Given the description of an element on the screen output the (x, y) to click on. 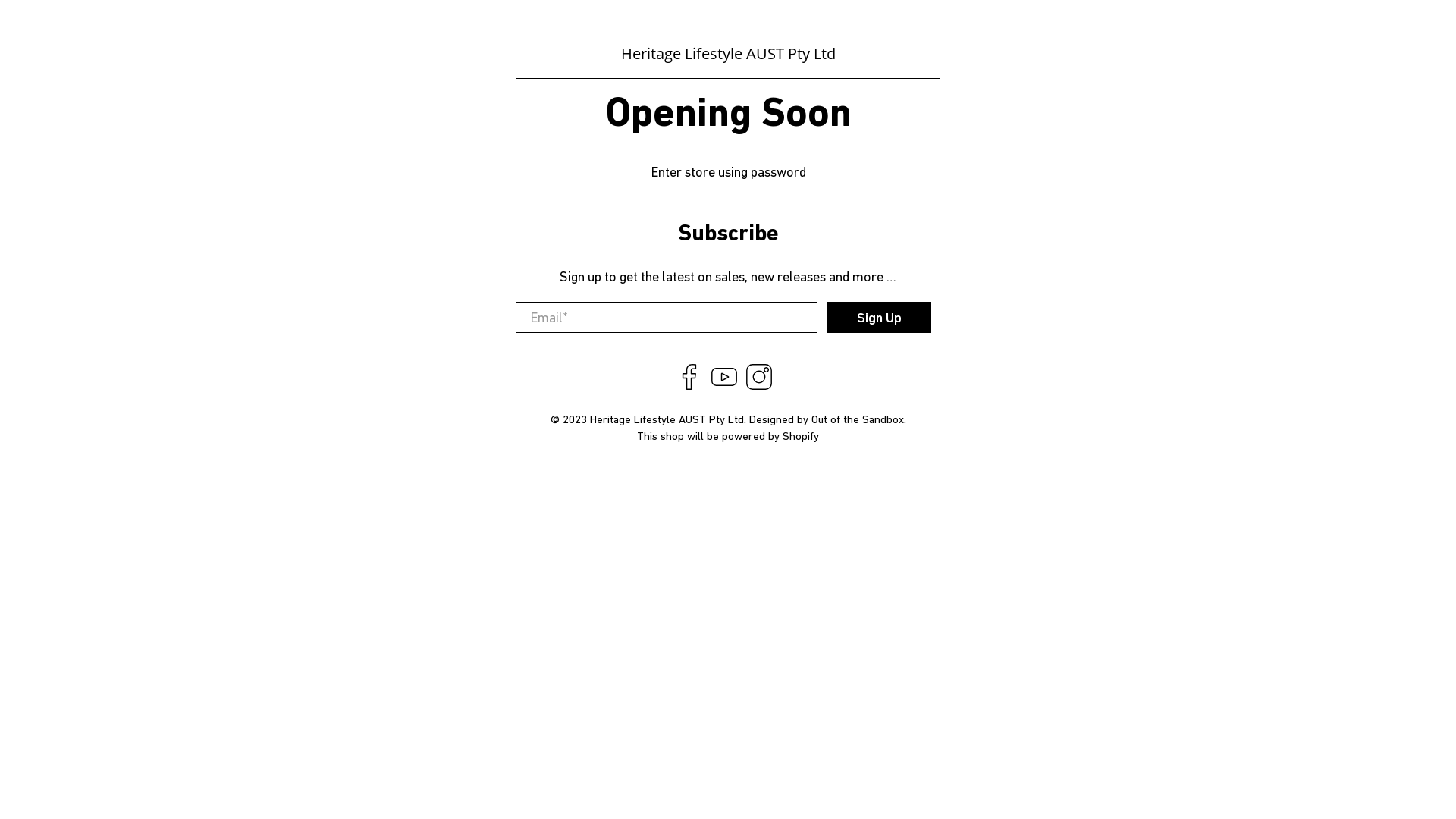
Shopify Element type: text (800, 435)
Enter Element type: text (727, 435)
Sign Up Element type: text (878, 316)
Heritage Lifestyle AUST Pty Ltd on Instagram Element type: hover (758, 385)
Heritage Lifestyle AUST Pty Ltd on YouTube Element type: hover (723, 385)
Designed by Out of the Sandbox Element type: text (826, 418)
Enter store using password Element type: text (728, 171)
Heritage Lifestyle AUST Pty Ltd on Facebook Element type: hover (688, 385)
